Given the description of an element on the screen output the (x, y) to click on. 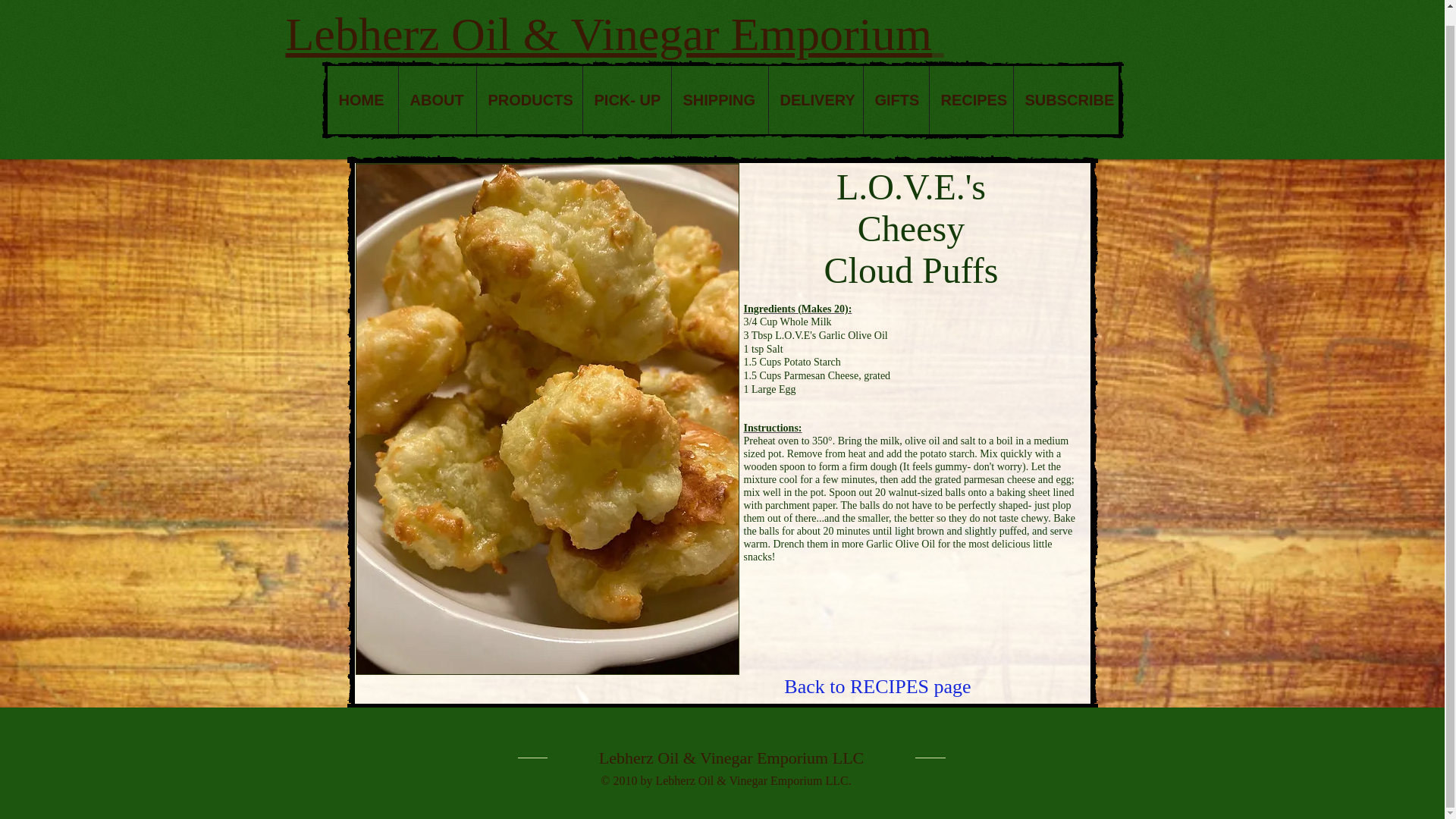
PICK- UP (626, 100)
SHIPPING (718, 100)
PRODUCTS (529, 100)
RECIPES (969, 100)
Back to RECIPES page (877, 687)
HOME (362, 100)
GIFTS (895, 100)
DELIVERY (814, 100)
ABOUT (436, 100)
SUBSCRIBE (1065, 100)
